Given the description of an element on the screen output the (x, y) to click on. 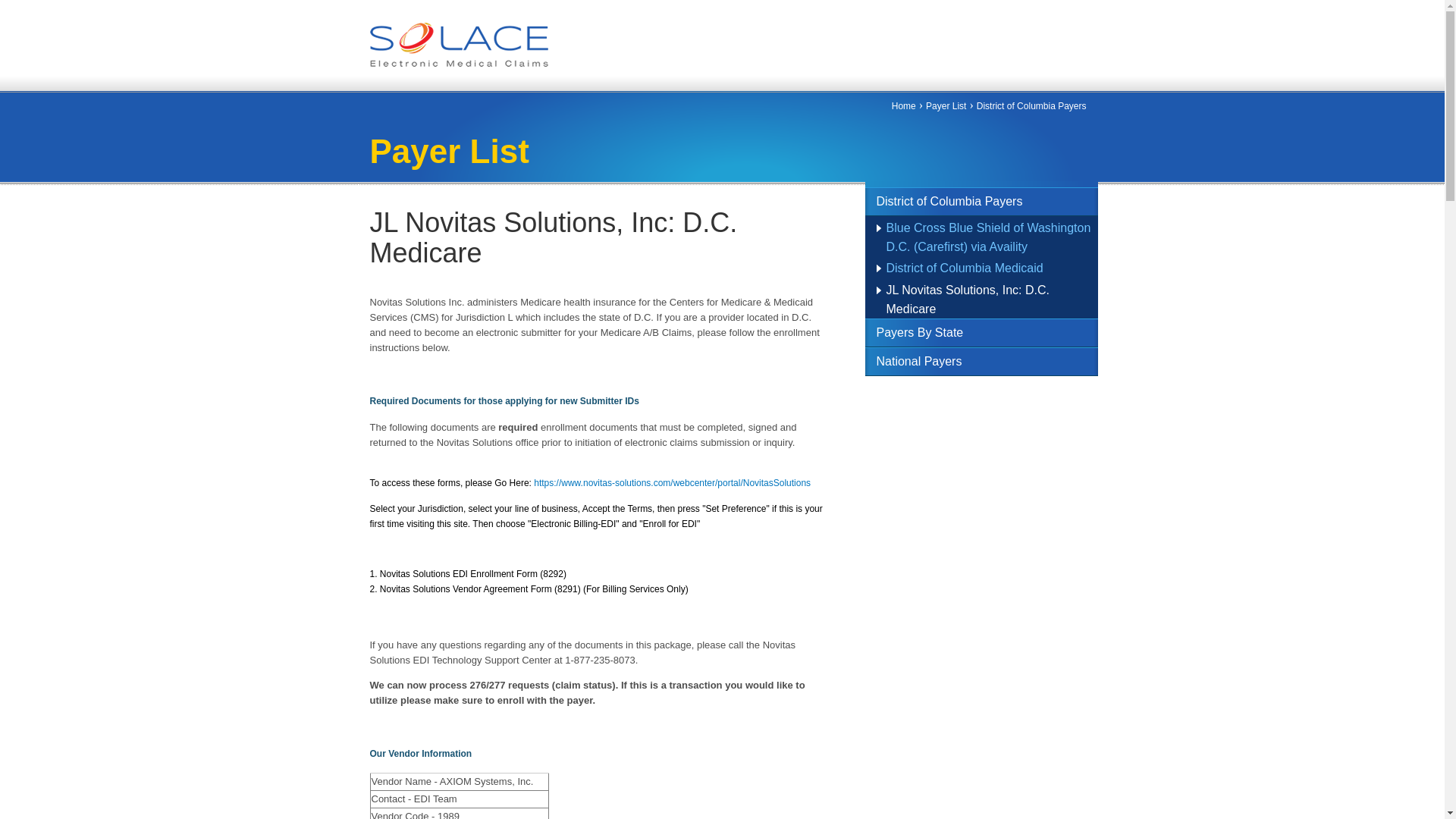
Client Log in (1054, 119)
Product (566, 118)
District of Columbia Medicaid (963, 267)
Contact (951, 118)
Home (458, 62)
Payer List (946, 105)
JL Novitas Solutions, Inc: D.C. Medicare (967, 299)
Support (869, 118)
District of Columbia Payers (1031, 105)
Home (903, 105)
